Given the description of an element on the screen output the (x, y) to click on. 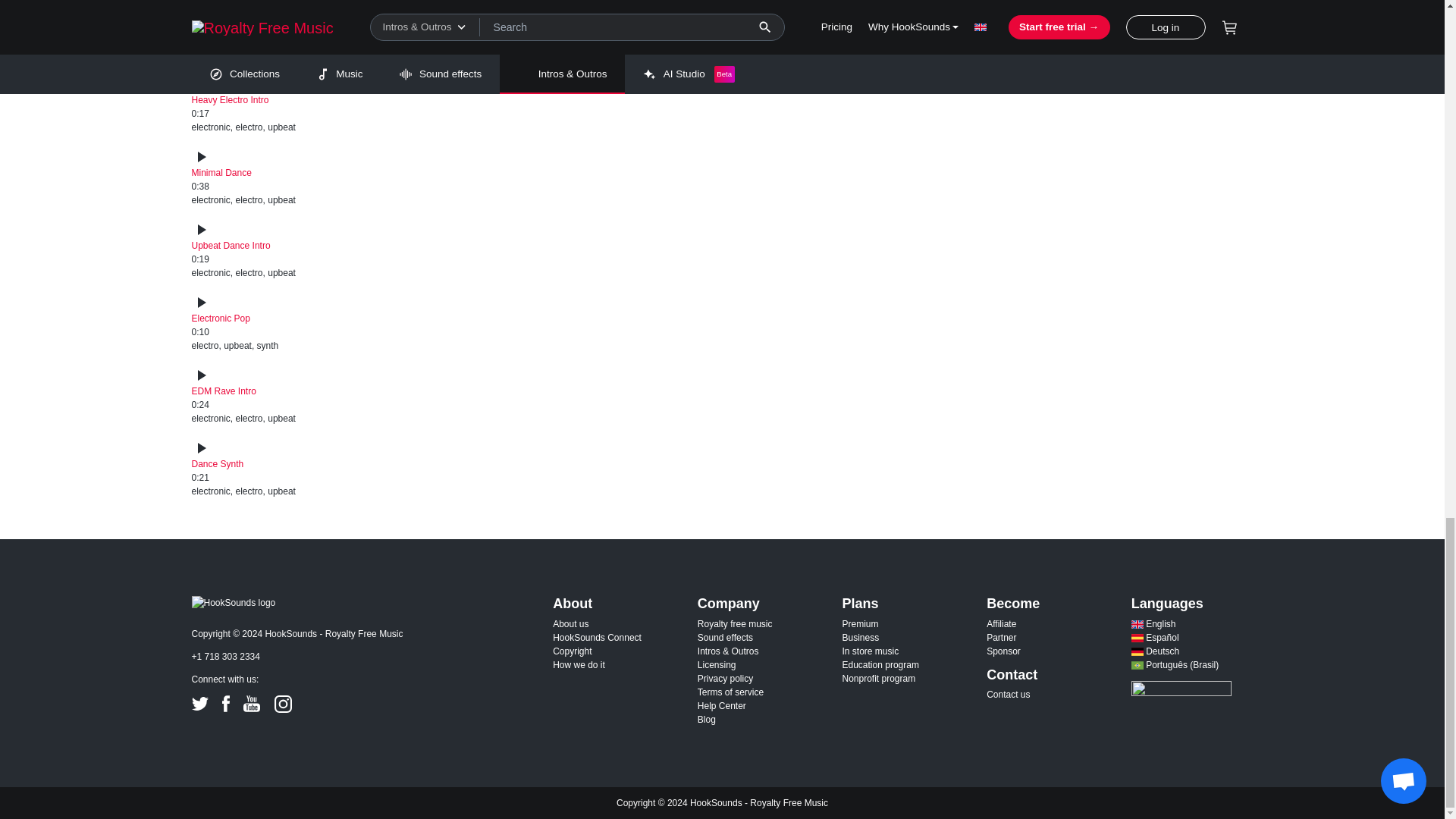
Twitter (199, 703)
Instagram (283, 703)
YouTube (251, 703)
HookSounds logo (232, 602)
